Given the description of an element on the screen output the (x, y) to click on. 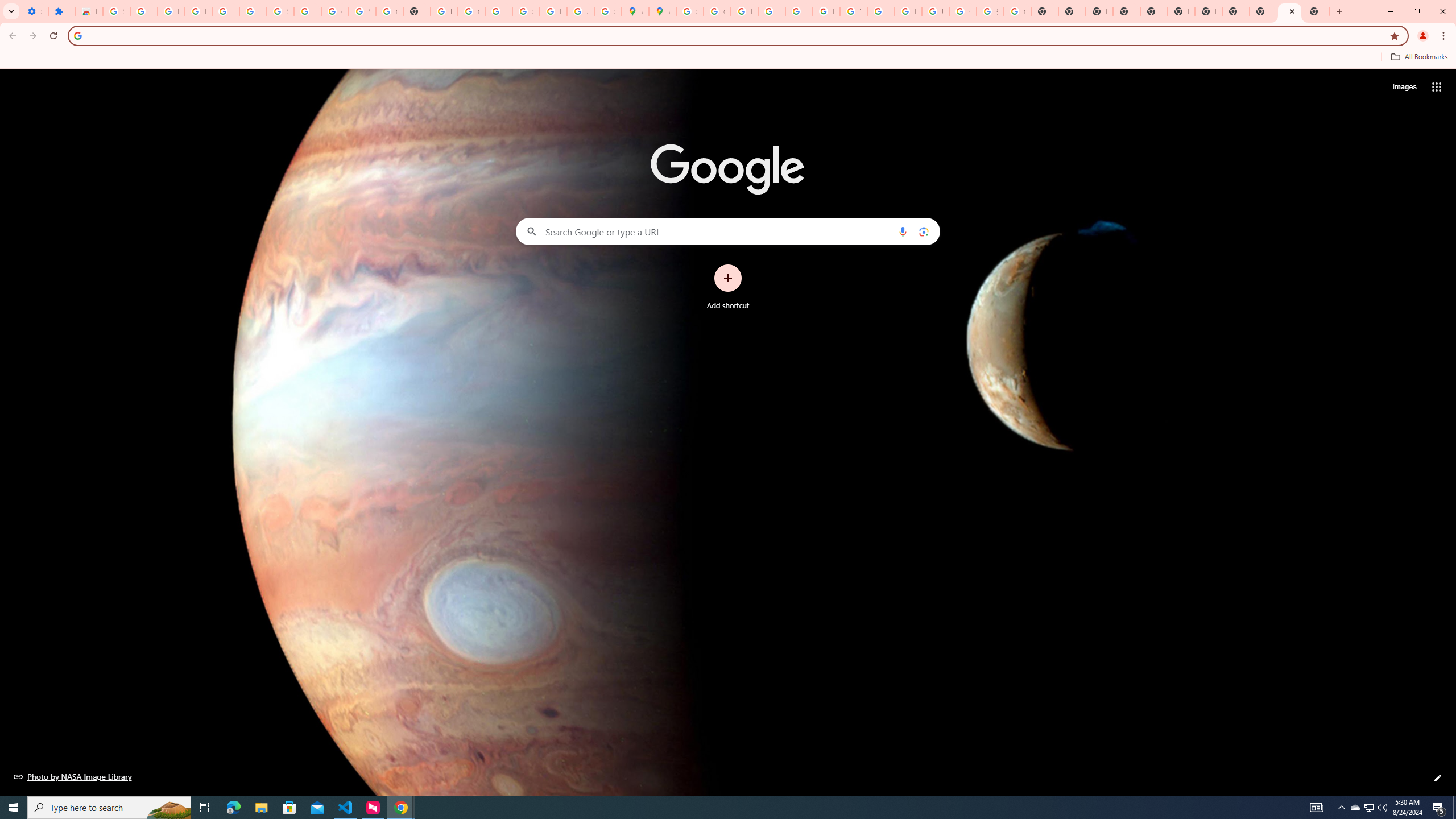
Settings - On startup (34, 11)
Customize this page (1437, 778)
Reviews: Helix Fruit Jump Arcade Game (88, 11)
Add shortcut (727, 287)
YouTube (853, 11)
New Tab (1316, 11)
